Given the description of an element on the screen output the (x, y) to click on. 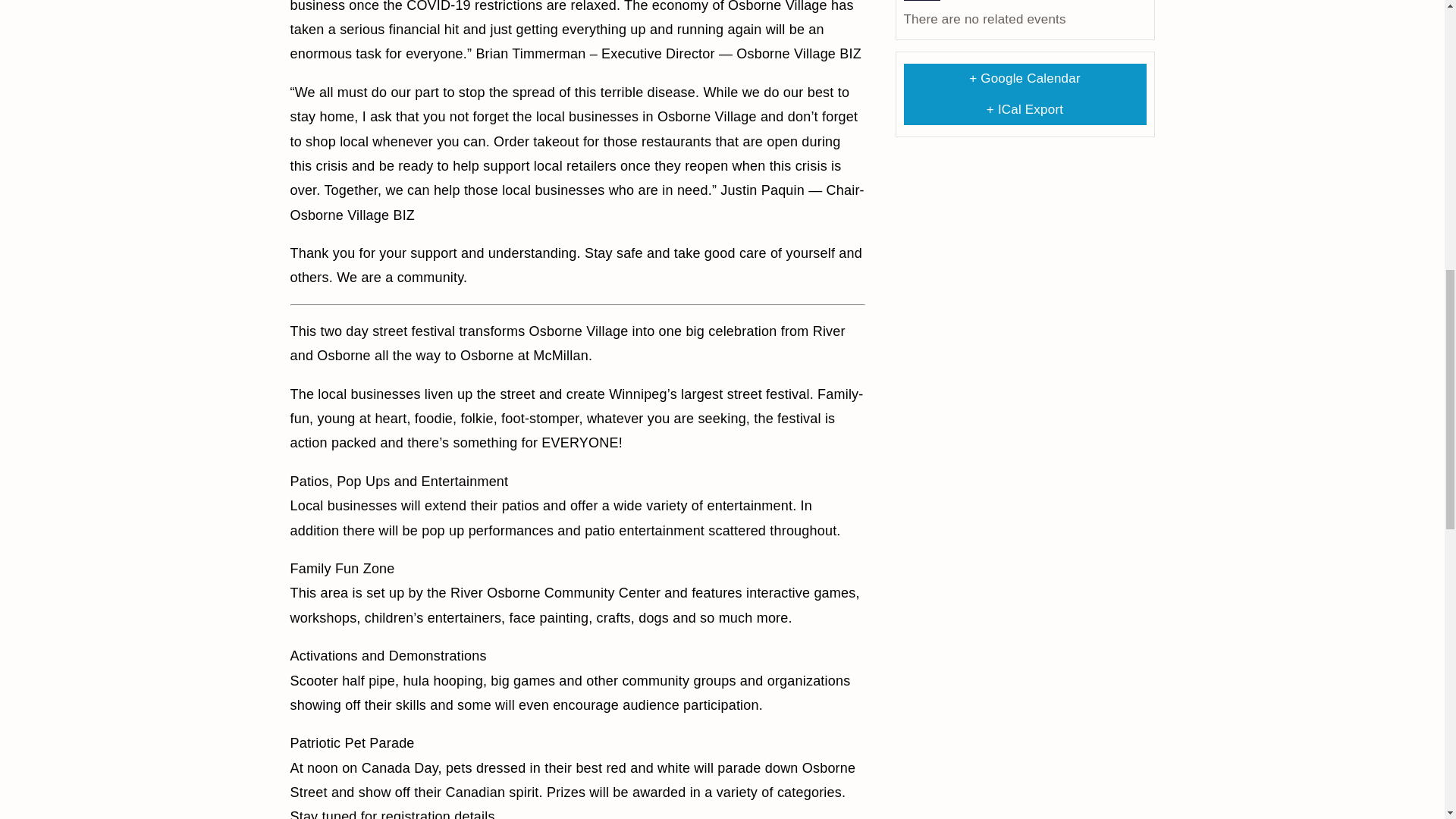
Download .ics file (1024, 109)
